Given the description of an element on the screen output the (x, y) to click on. 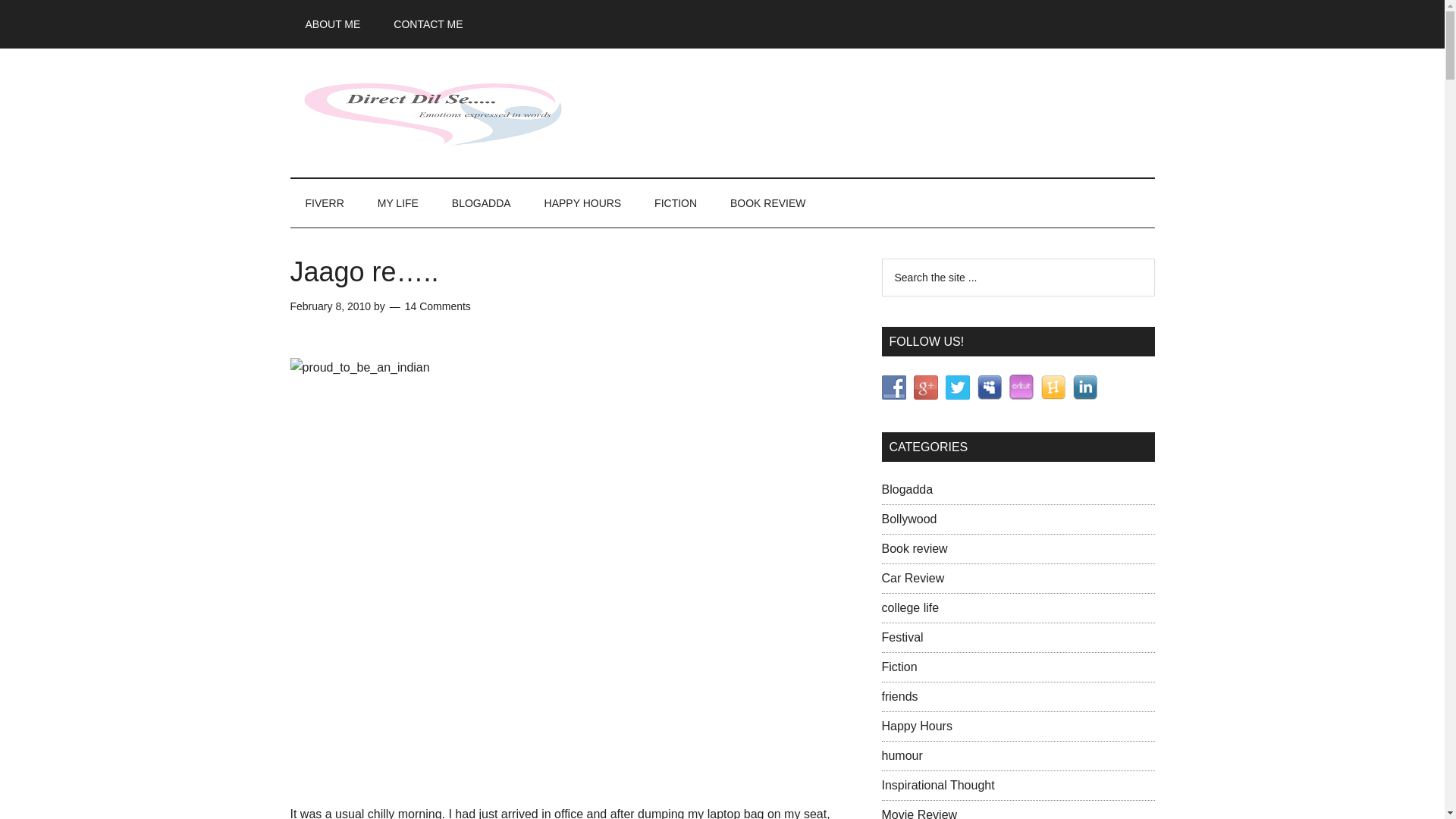
Follow Us on Facebook (892, 387)
Follow Us on LinkedIn (1083, 387)
BOOK REVIEW (767, 203)
Follow Us on Hyves (1052, 387)
Follow Us on Twitter (956, 387)
Direct Dil se..... (433, 112)
ABOUT ME (332, 24)
CONTACT ME (427, 24)
FIVERR (323, 203)
FICTION (675, 203)
14 Comments (437, 306)
Follow Us on Orkut (1020, 386)
HAPPY HOURS (583, 203)
